Given the description of an element on the screen output the (x, y) to click on. 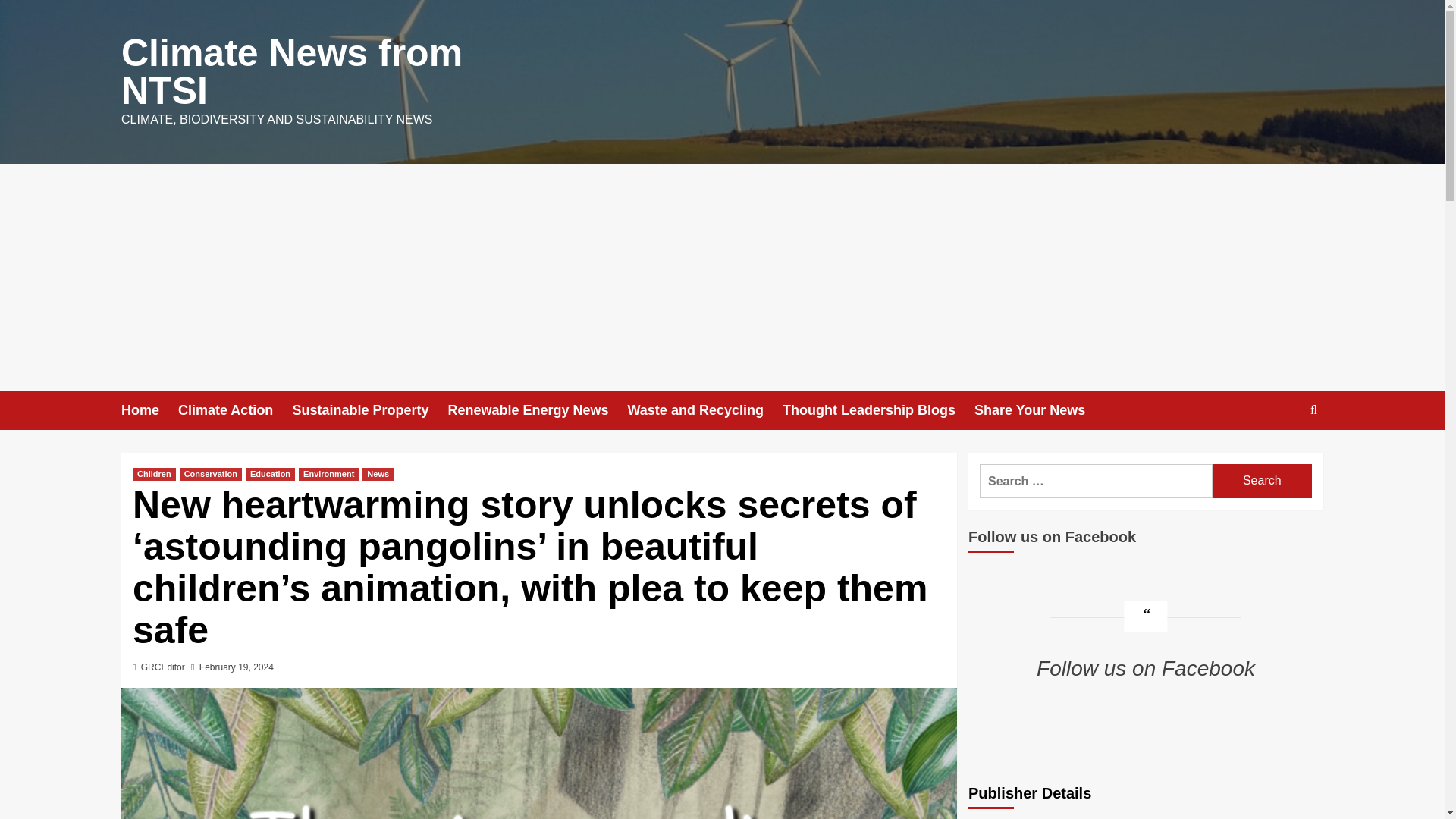
Children (154, 473)
Home (148, 410)
Search (1278, 456)
Search (1261, 480)
Conservation (210, 473)
Share Your News (1038, 410)
February 19, 2024 (236, 666)
Climate News from NTSI (291, 71)
Climate Action (234, 410)
Environment (328, 473)
Search (1261, 480)
Thought Leadership Blogs (878, 410)
Education (270, 473)
Search (1313, 409)
Waste and Recycling (705, 410)
